Given the description of an element on the screen output the (x, y) to click on. 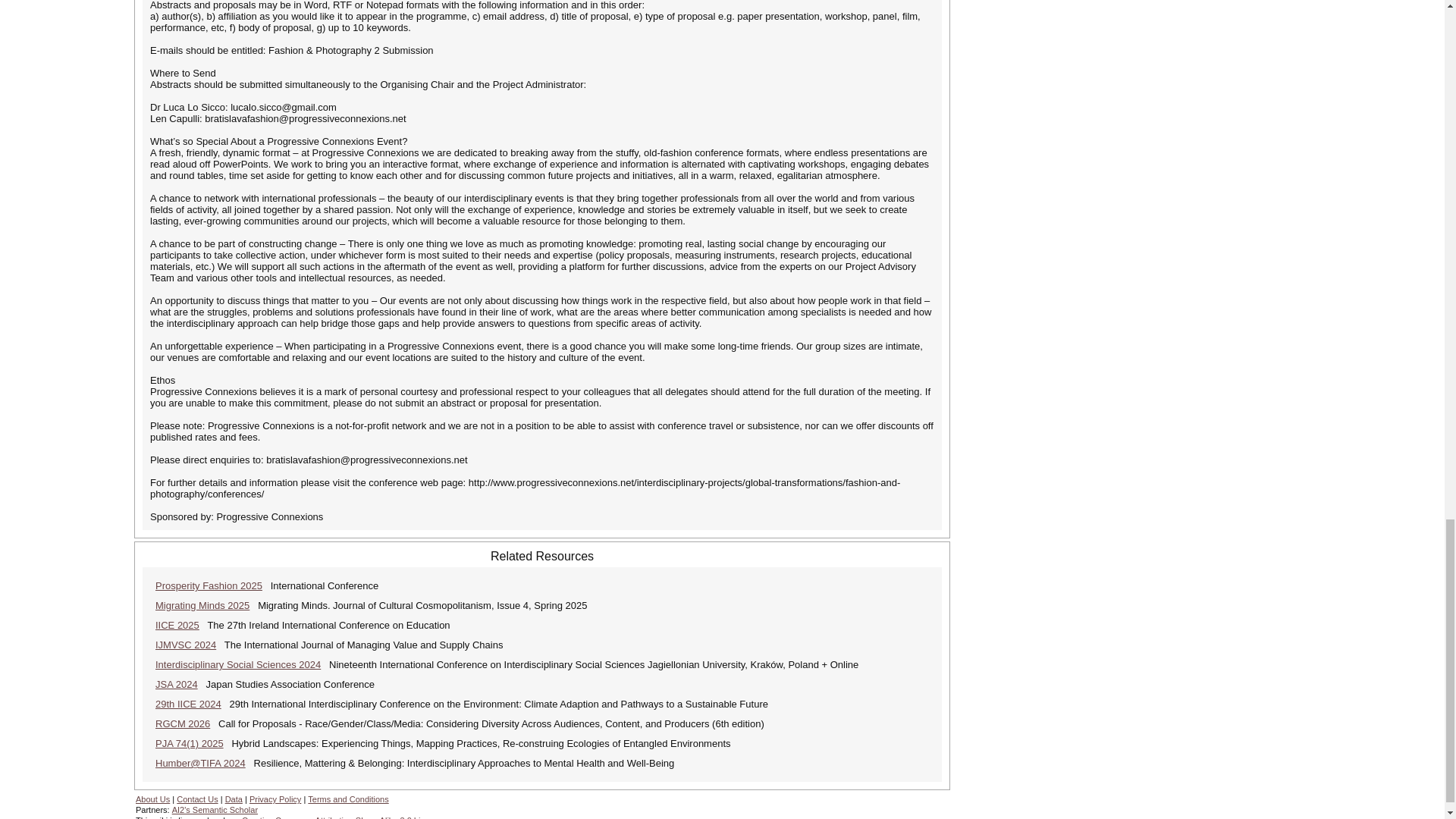
Prosperity Fashion 2025 (208, 585)
Interdisciplinary Social Sciences 2024 (237, 664)
IJMVSC 2024 (185, 644)
Migrating Minds 2025 (201, 604)
JSA 2024 (176, 684)
IICE 2025 (177, 624)
